Given the description of an element on the screen output the (x, y) to click on. 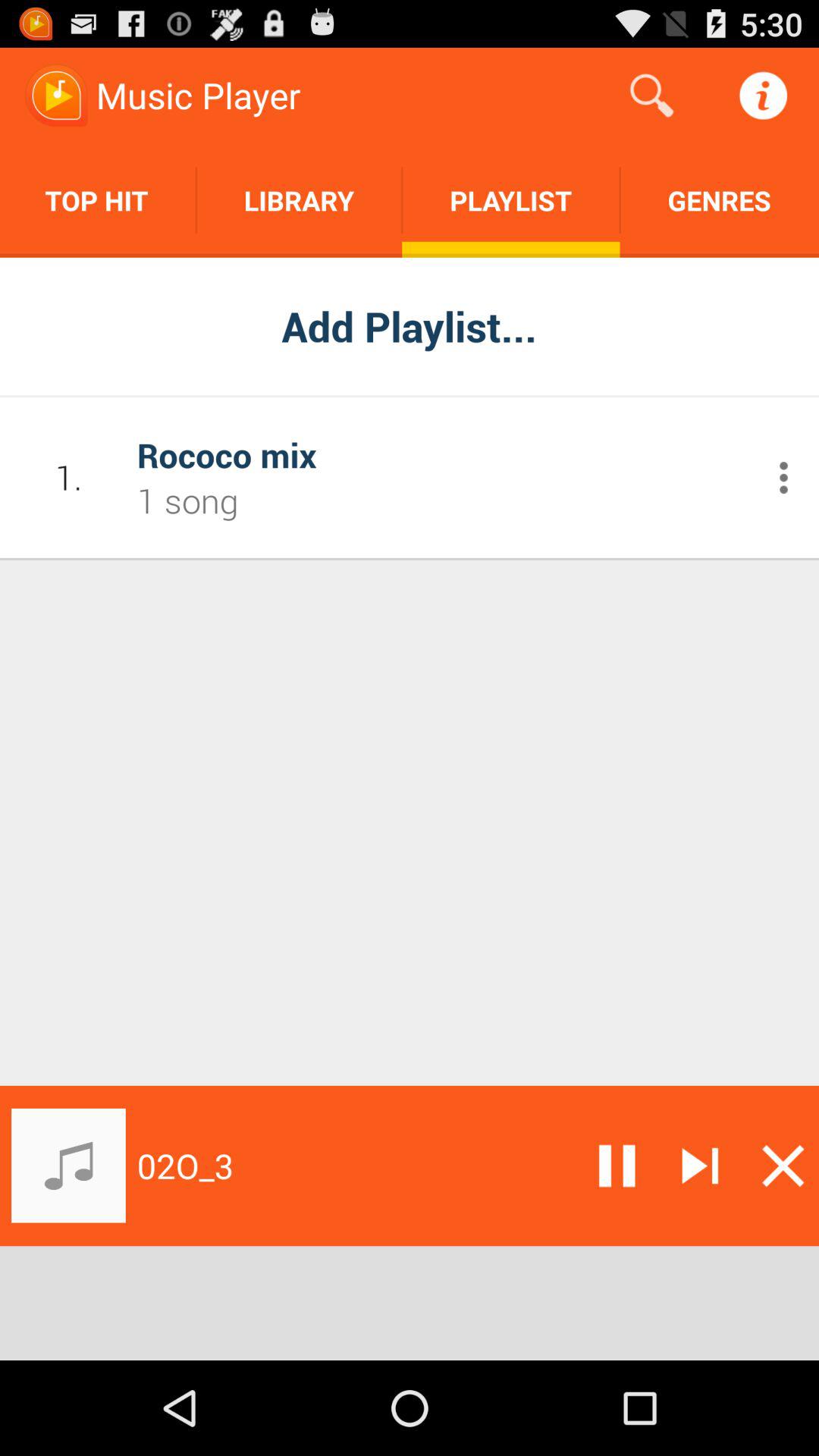
open additional menu commands (783, 477)
